Given the description of an element on the screen output the (x, y) to click on. 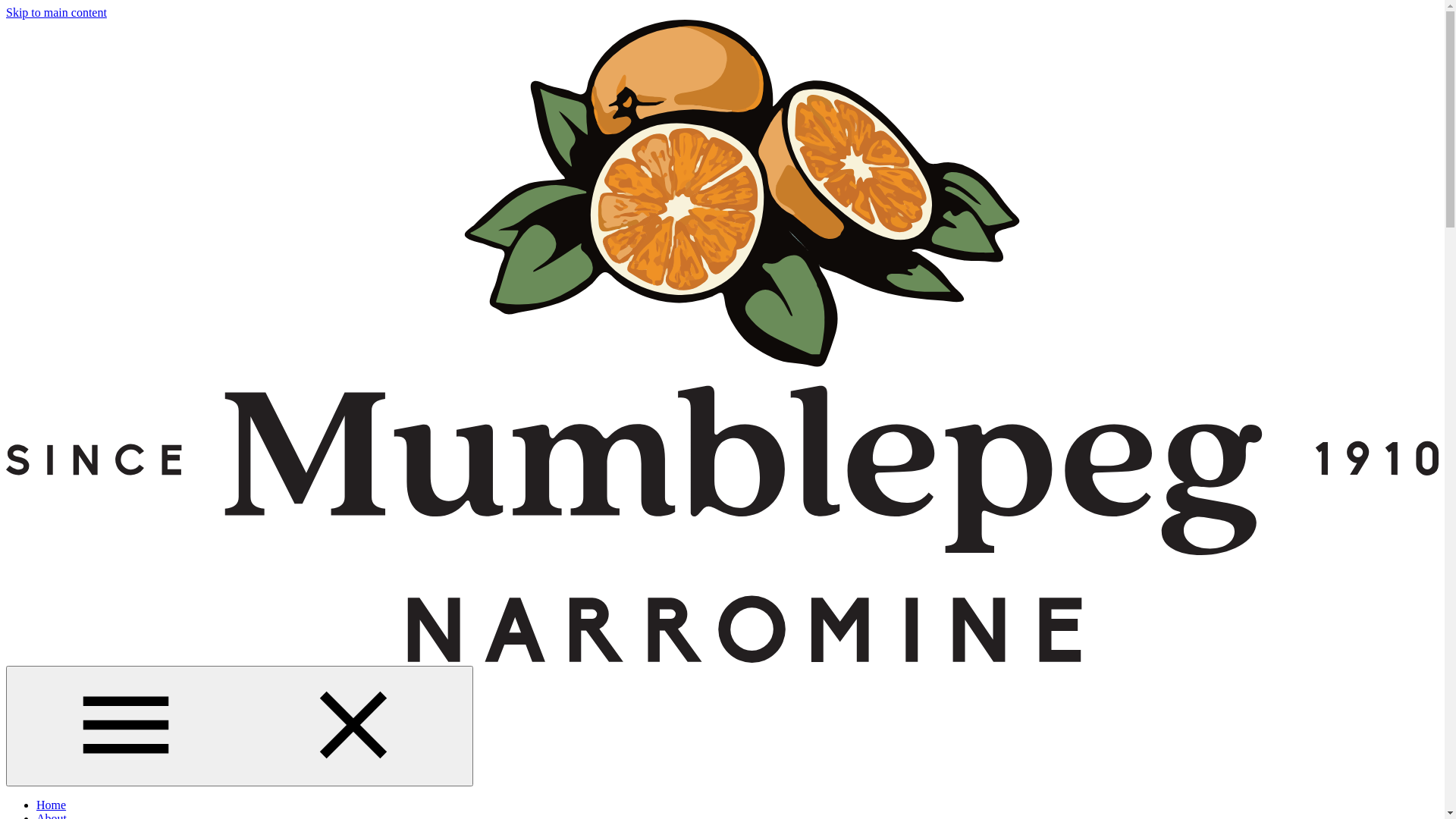
Skip to main content Element type: text (56, 12)
Home Element type: text (50, 804)
